Given the description of an element on the screen output the (x, y) to click on. 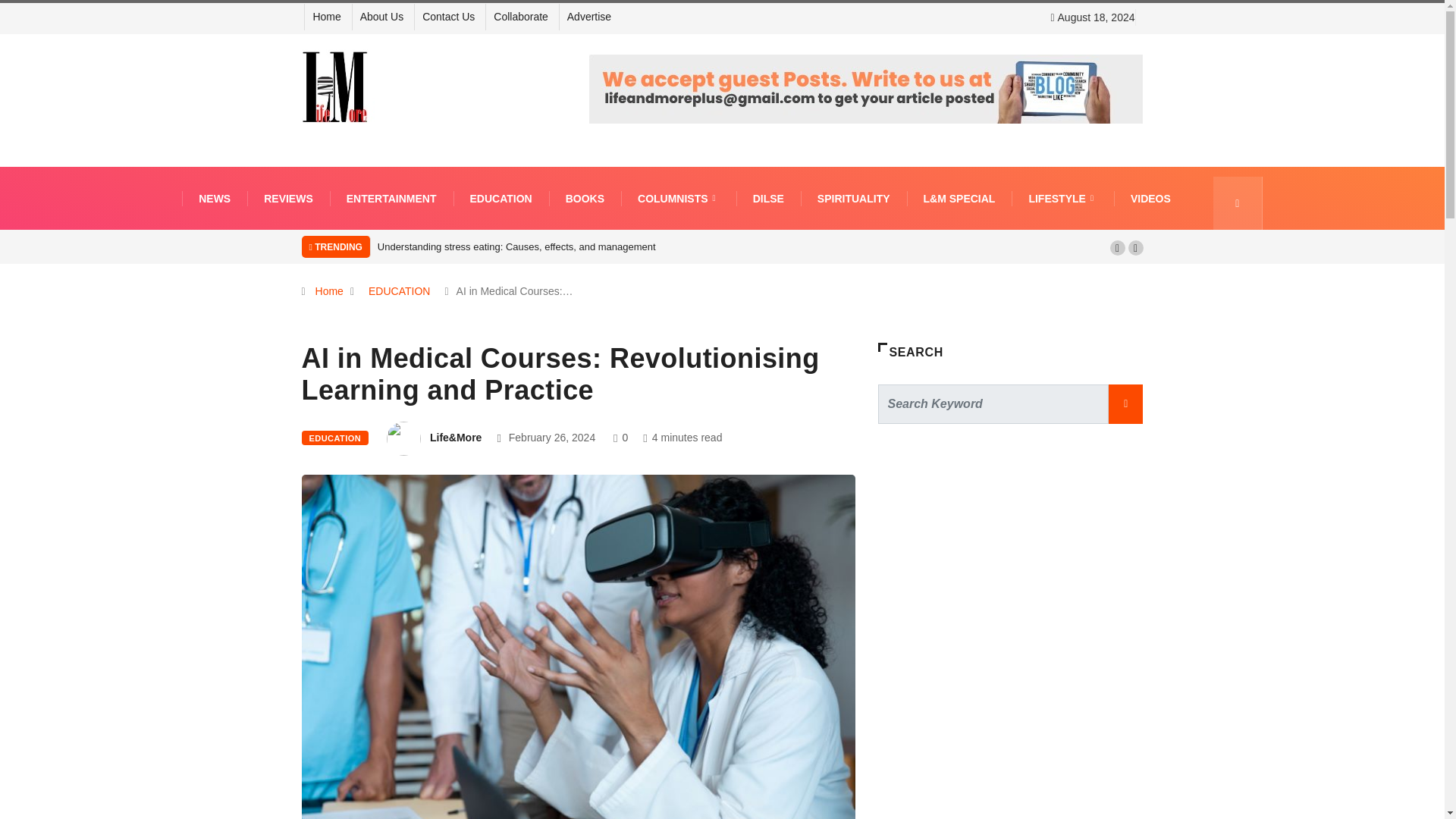
COLUMNISTS (678, 197)
Home (326, 16)
BOOKS (584, 197)
LIFESTYLE (1062, 197)
DILSE (768, 197)
Contact Us (448, 16)
EDUCATION (500, 197)
Advertise (589, 16)
About Us (381, 16)
popup modal for search (1237, 203)
